Given the description of an element on the screen output the (x, y) to click on. 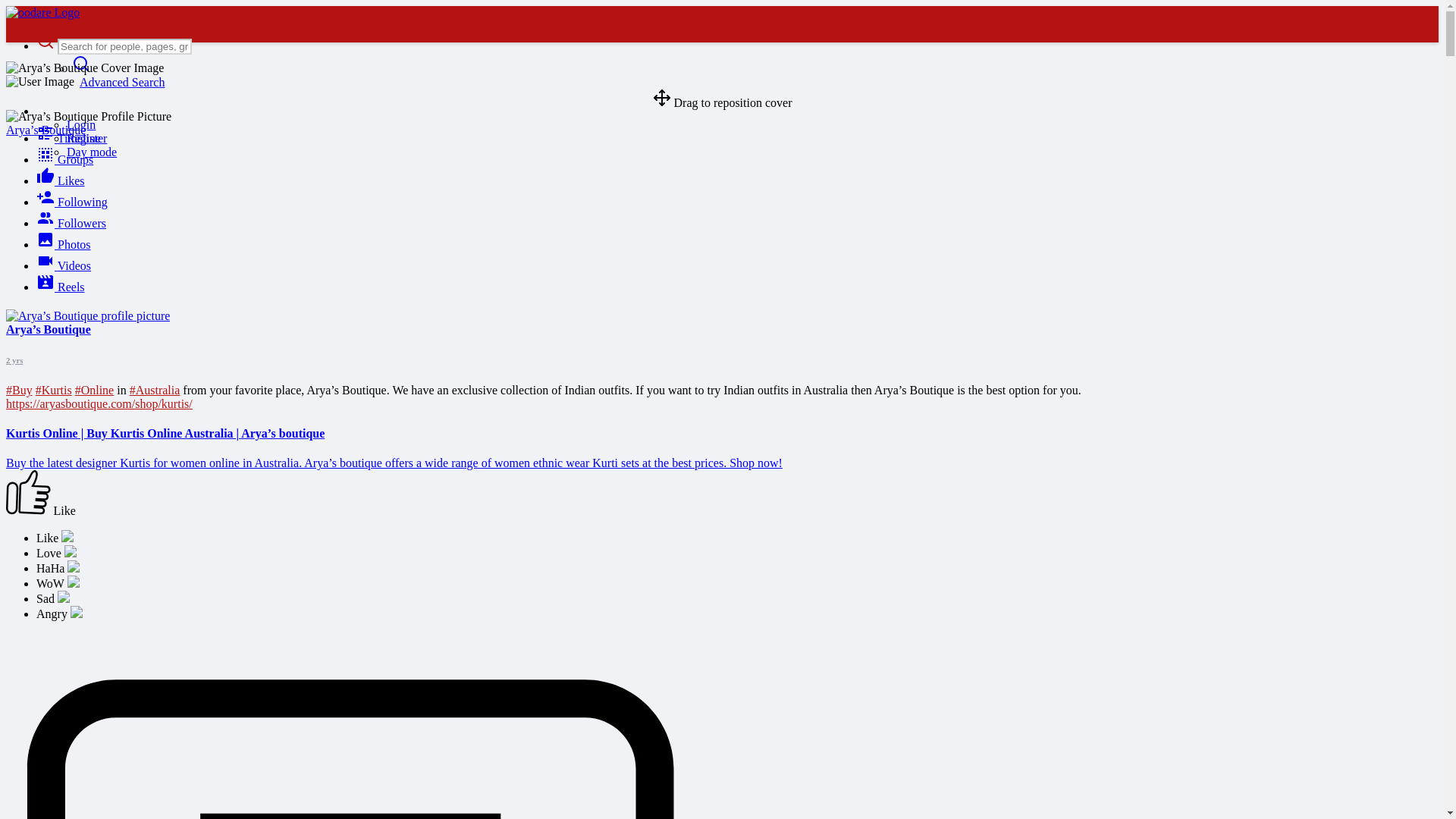
2 yrs (14, 359)
Likes (60, 180)
Login (81, 124)
Guest (47, 111)
Reels (60, 286)
Following (71, 201)
Groups (64, 159)
Videos (63, 265)
Register (86, 137)
Day mode (91, 151)
